Given the description of an element on the screen output the (x, y) to click on. 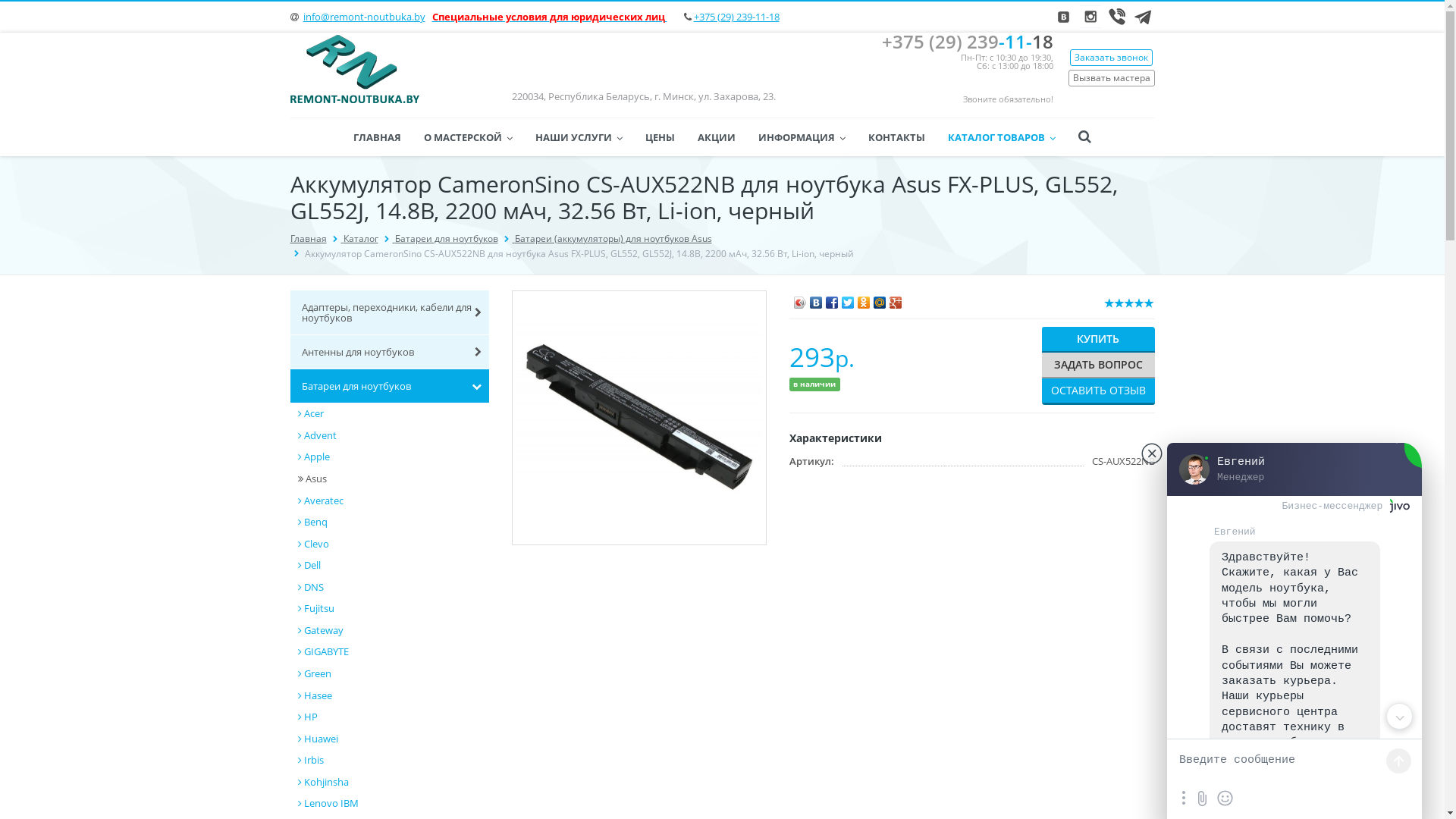
Fujitsu Element type: text (393, 608)
Irbis Element type: text (393, 760)
Acer Element type: text (393, 413)
info@remont-noutbuka.by Element type: text (364, 16)
Kohjinsha Element type: text (393, 782)
Google Plus Element type: hover (895, 298)
Clevo Element type: text (393, 544)
+375 (29) 239-11-18 Element type: text (735, 16)
GIGABYTE Element type: text (393, 651)
DNS Element type: text (393, 587)
Twitter Element type: hover (848, 298)
Hasee Element type: text (393, 695)
Asus Element type: text (393, 478)
Averatec Element type: text (393, 500)
Apple Element type: text (393, 456)
  Element type: text (665, 16)
Gateway Element type: text (393, 630)
Lenovo IBM Element type: text (393, 803)
Dell Element type: text (393, 565)
Facebook Element type: hover (832, 298)
Benq Element type: text (393, 522)
+375 (29) 239-11- Element type: text (956, 40)
Huawei Element type: text (393, 738)
Green Element type: text (393, 673)
HP Element type: text (393, 717)
Advent Element type: text (393, 435)
